Given the description of an element on the screen output the (x, y) to click on. 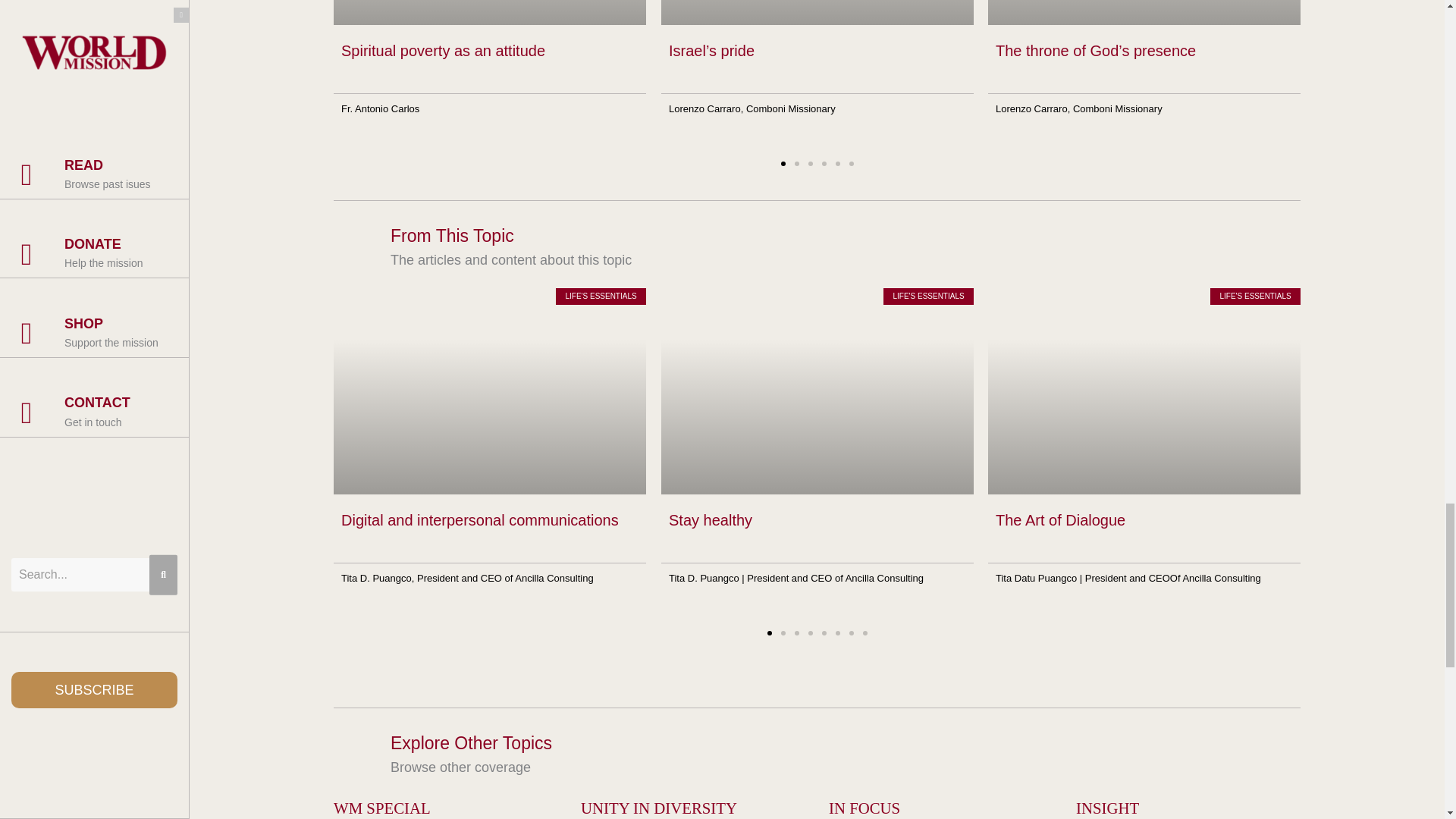
Digital and interpersonal communications (479, 519)
The Art of Dialogue (1060, 519)
Spiritual poverty as an attitude (442, 50)
Stay healthy (710, 519)
